Given the description of an element on the screen output the (x, y) to click on. 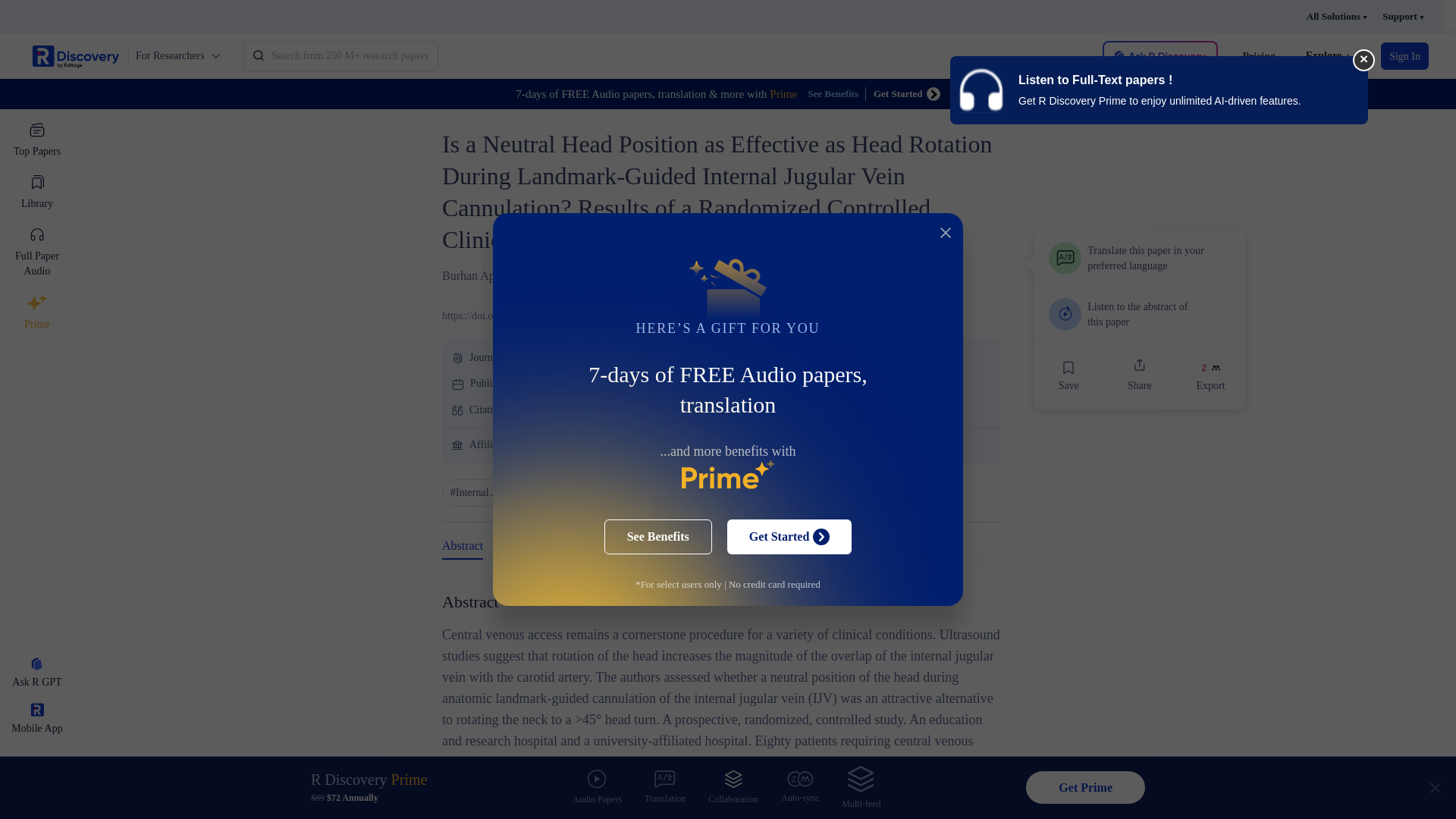
Translate this paper in your preferred language (1139, 257)
Full Paper Audio (36, 251)
Neutral Position (607, 492)
Top Papers (36, 139)
Internal Jugular Vein (497, 492)
Save (1068, 375)
Get Started (906, 93)
Mobile App (36, 719)
Support (1402, 16)
Pricing (1258, 56)
Get Prime (1085, 787)
Sign In (1404, 55)
All Solutions (1336, 16)
Library (36, 192)
Ask R GPT (36, 673)
